Given the description of an element on the screen output the (x, y) to click on. 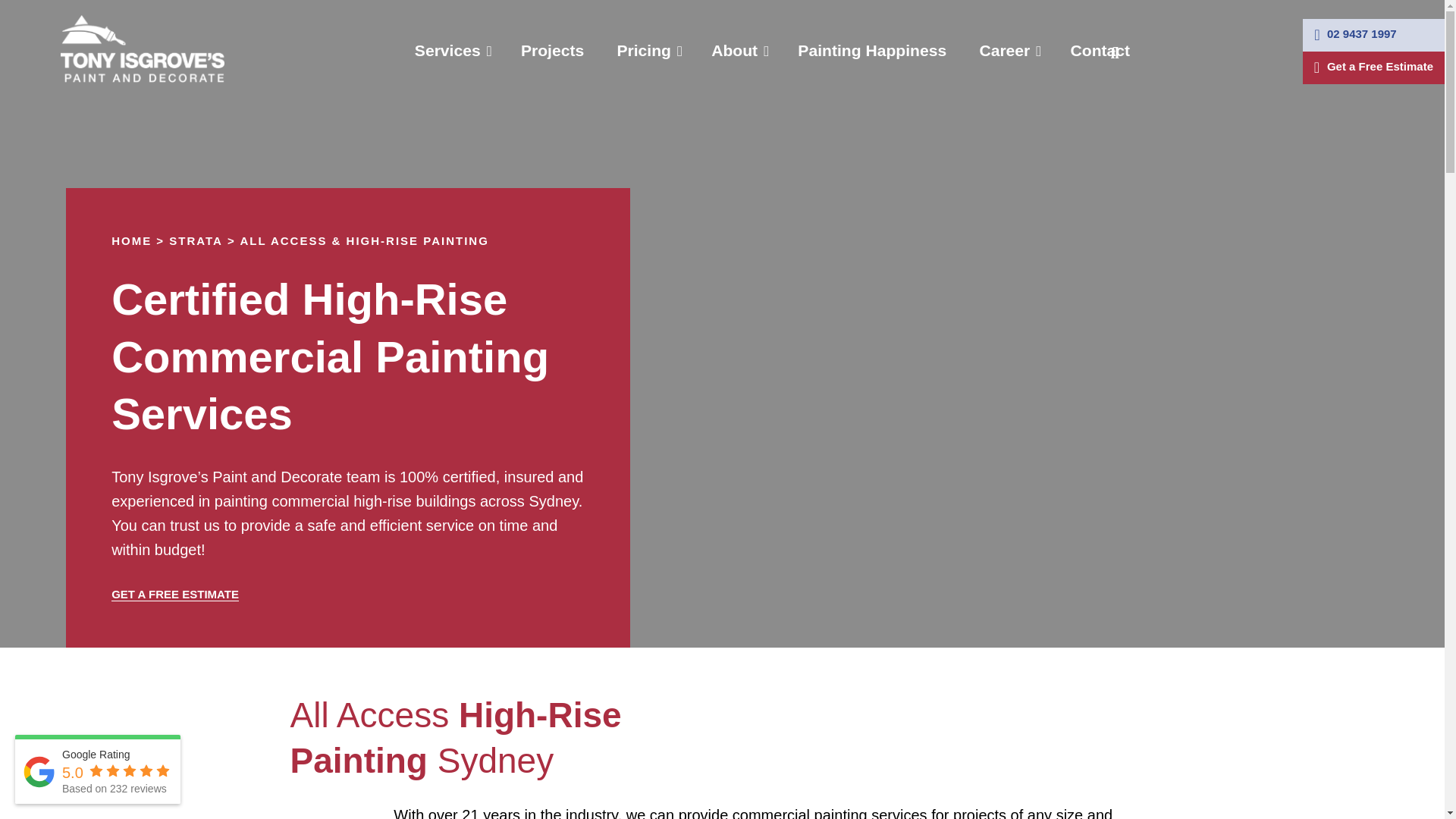
Services (450, 49)
Pricing (646, 49)
Projects (552, 49)
